Given the description of an element on the screen output the (x, y) to click on. 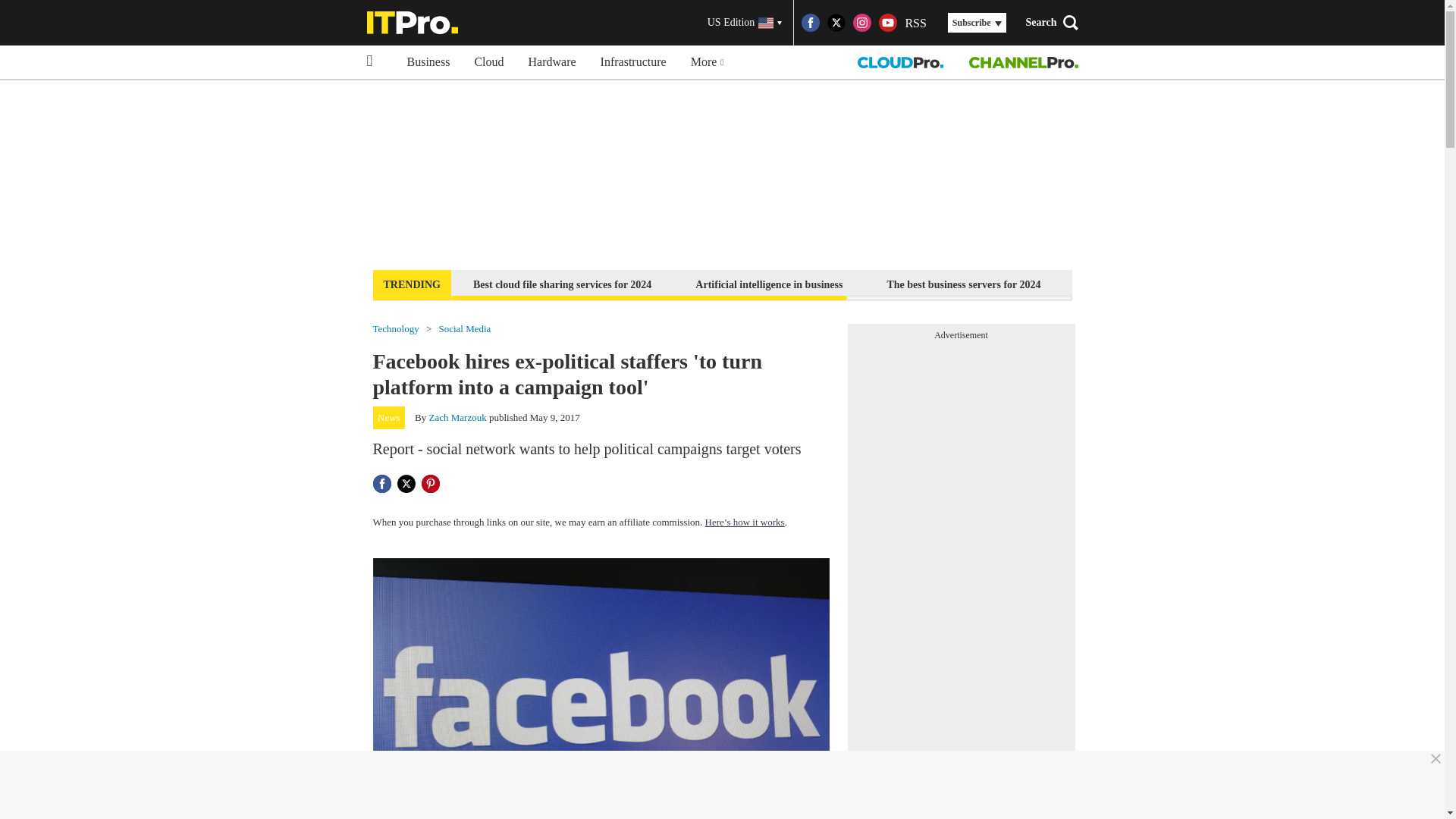
Zach Marzouk (457, 417)
Technology (395, 327)
RSS (915, 22)
Subscribe to the ITPro newsletter (1161, 284)
Social Media (464, 327)
US Edition (745, 22)
Artificial intelligence in business (768, 284)
Cloud (488, 61)
News (389, 417)
The best business servers for 2024 (962, 284)
Infrastructure (633, 61)
Stop modern cyber attacks (1341, 284)
